Given the description of an element on the screen output the (x, y) to click on. 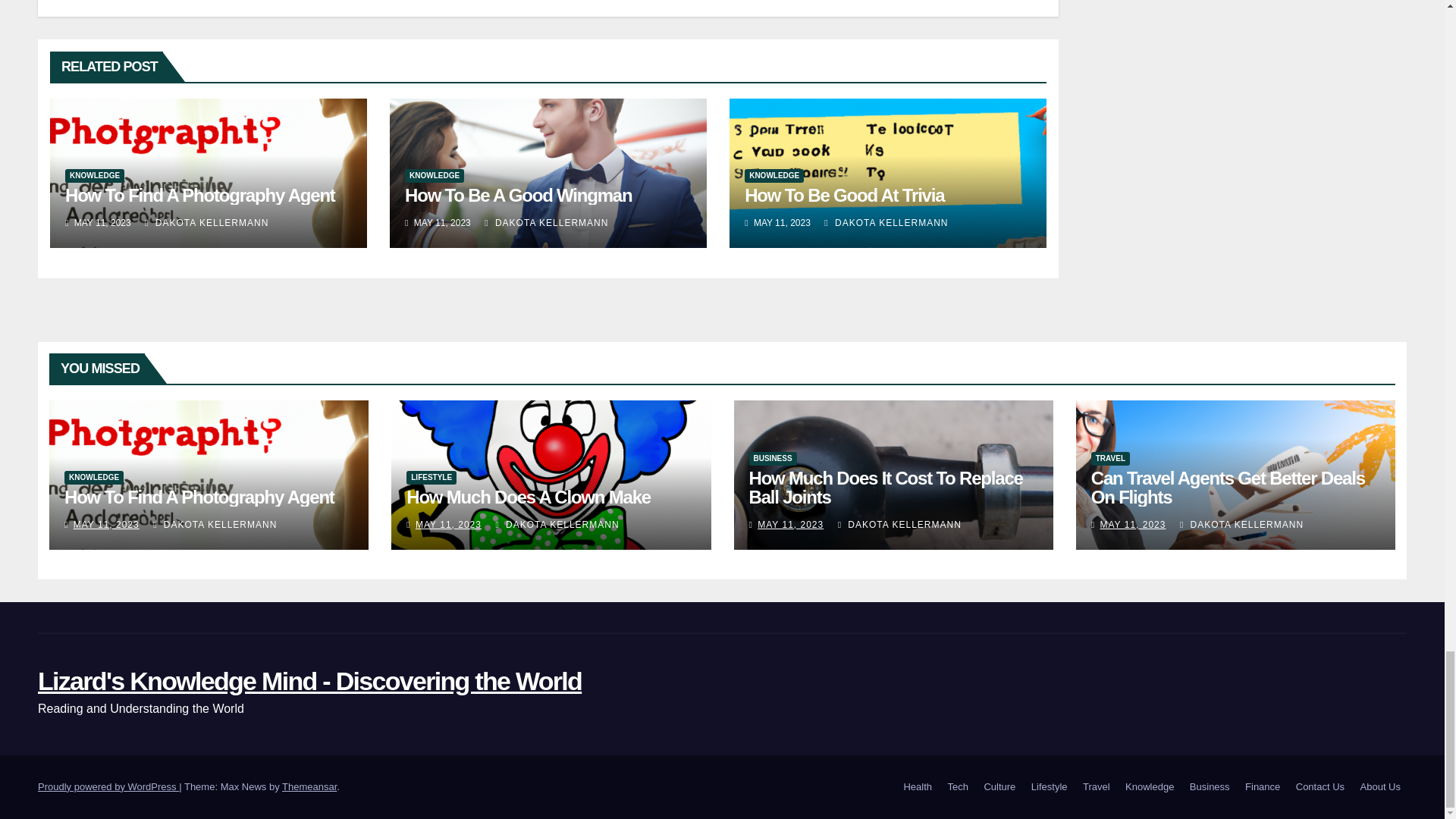
Health (916, 786)
Permalink to: How To Be Good At Trivia (843, 195)
Permalink to: How To Be A Good Wingman (517, 195)
Tech (958, 786)
Permalink to: How To Find A Photography Agent (199, 496)
Permalink to: How To Find A Photography Agent (199, 195)
Permalink to: Can Travel Agents Get Better Deals On Flights (1227, 486)
Permalink to: How Much Does It Cost To Replace Ball Joints (886, 486)
Permalink to: How Much Does A Clown Make (528, 496)
